Given the description of an element on the screen output the (x, y) to click on. 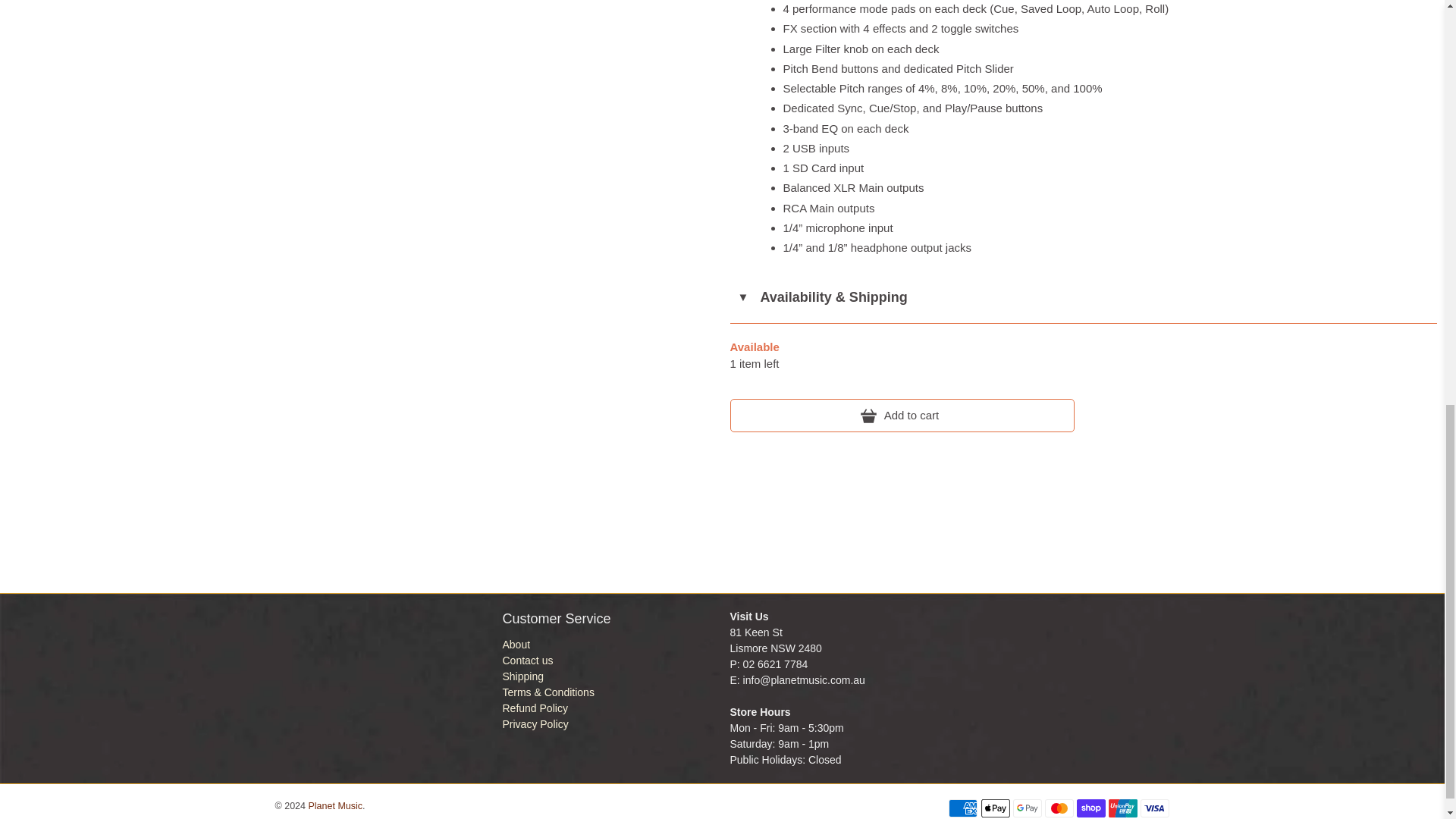
Visa (1154, 808)
Mastercard (1059, 808)
Apple Pay (995, 808)
Union Pay (1122, 808)
American Express (962, 808)
Planet Music (359, 684)
Google Pay (1027, 808)
Shop Pay (1091, 808)
